Given the description of an element on the screen output the (x, y) to click on. 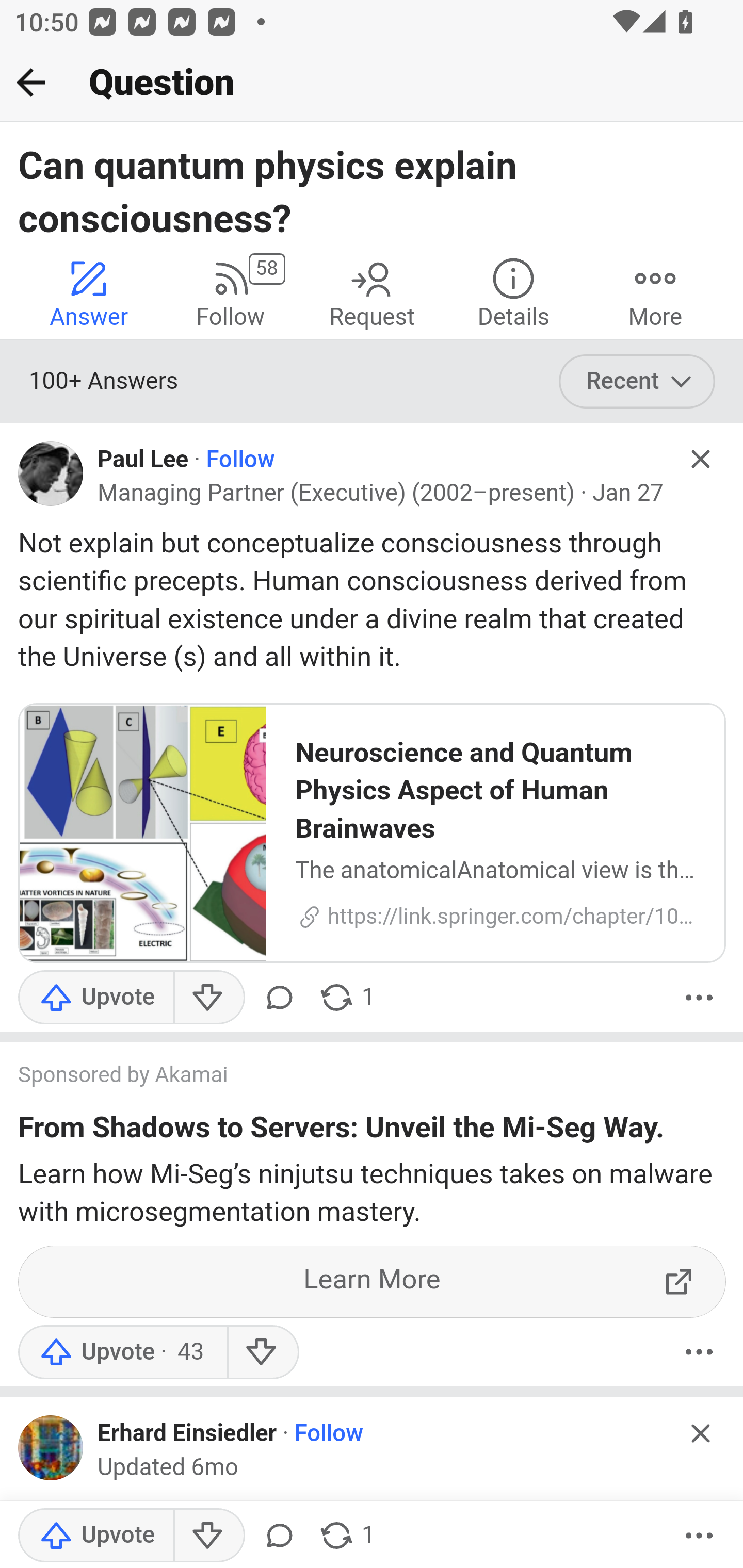
Back Question (371, 82)
Back (30, 82)
Answer (88, 292)
58 Follow (230, 292)
Request (371, 292)
Details (513, 292)
More (655, 292)
Recent (636, 381)
Hide (700, 459)
Profile photo for Paul Lee (50, 473)
Paul Lee (143, 459)
Follow (240, 459)
Jan 27 (628, 493)
Upvote (95, 997)
Downvote (208, 997)
Comment (278, 997)
1 share (346, 997)
More (699, 997)
Sponsored by Akamai (352, 1076)
From Shadows to Servers: Unveil the Mi-Seg Way. (341, 1131)
Learn More ExternalLink (372, 1281)
Upvote (122, 1351)
Downvote (262, 1351)
More (699, 1351)
Hide (700, 1433)
Profile photo for Erhard Einsiedler (50, 1447)
Erhard Einsiedler (187, 1433)
Follow (328, 1433)
Updated 6mo Updated  6 mo (167, 1467)
Upvote (95, 1535)
Downvote (208, 1535)
Comment (278, 1535)
1 share (346, 1535)
More (699, 1535)
